Given the description of an element on the screen output the (x, y) to click on. 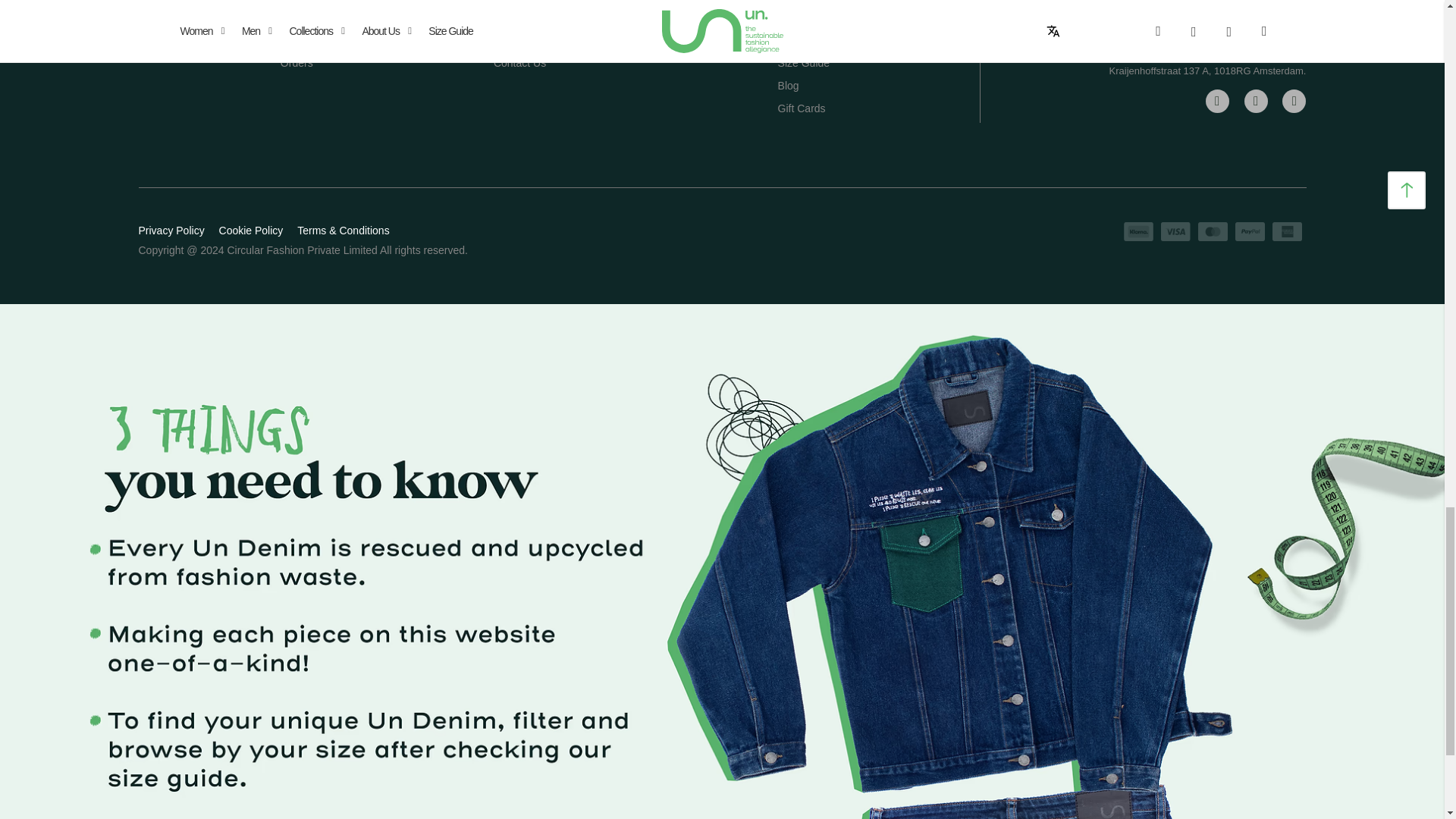
Cookie Policy (251, 230)
faq's (506, 39)
Privacy Policy (170, 230)
